Given the description of an element on the screen output the (x, y) to click on. 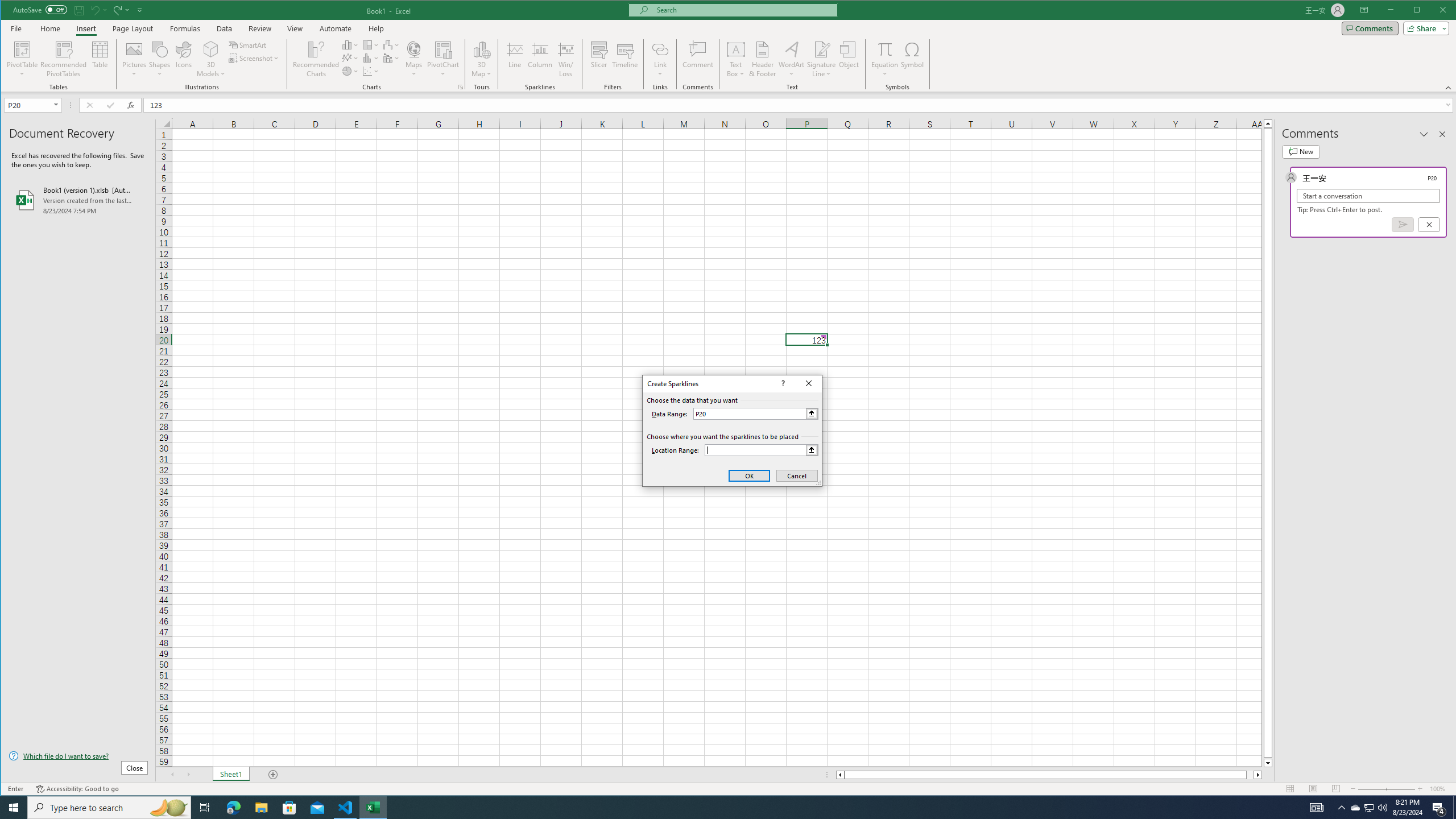
Running applications (717, 807)
Insert Hierarchy Chart (371, 44)
Visual Studio Code - 1 running window (345, 807)
Start (13, 807)
Excel - 1 running window (373, 807)
Line (514, 59)
Insert Line or Area Chart (350, 57)
Draw Horizontal Text Box (735, 48)
Equation (884, 48)
